Given the description of an element on the screen output the (x, y) to click on. 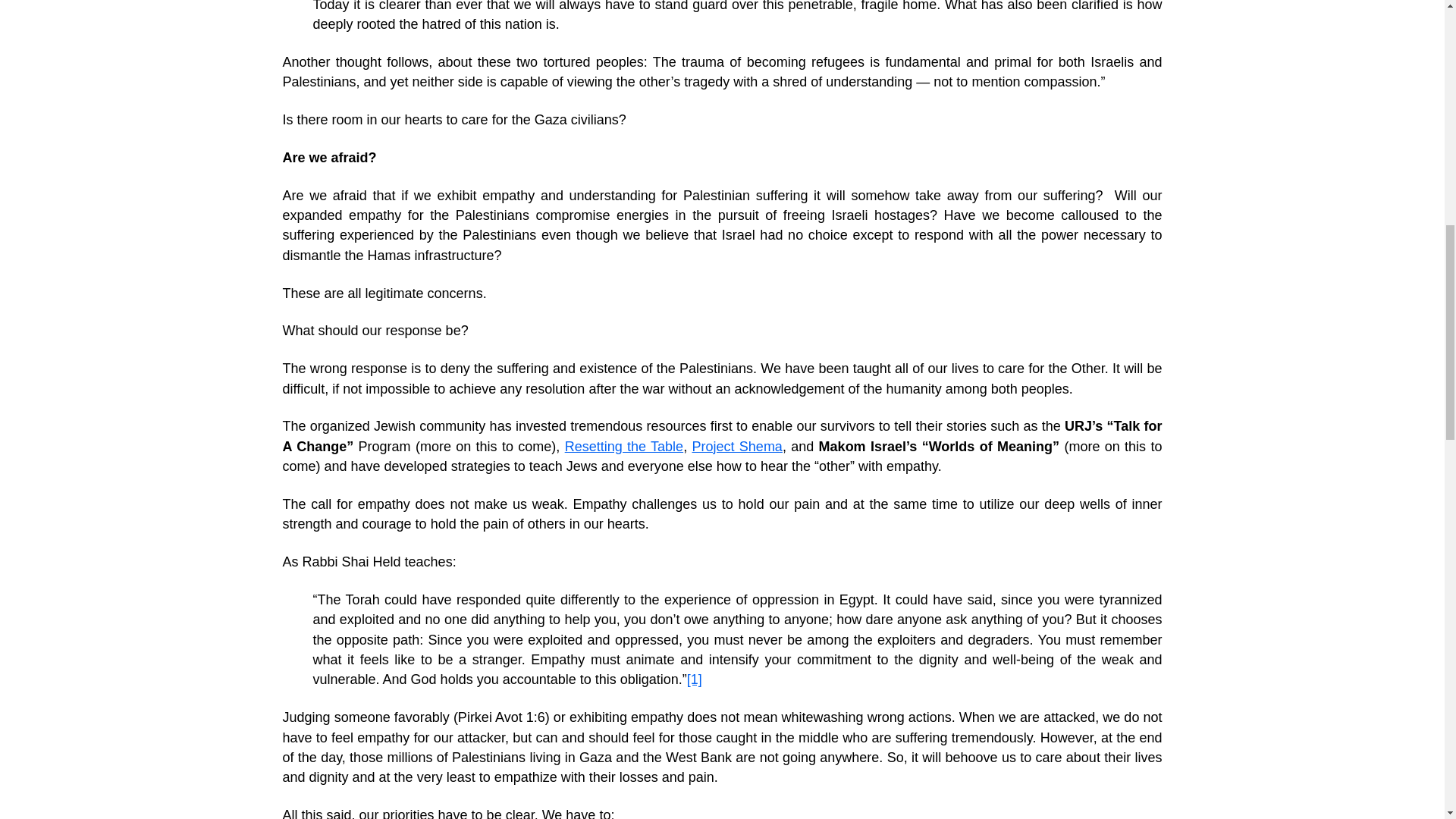
Resetting the Table (623, 446)
Project Shema (736, 446)
